Given the description of an element on the screen output the (x, y) to click on. 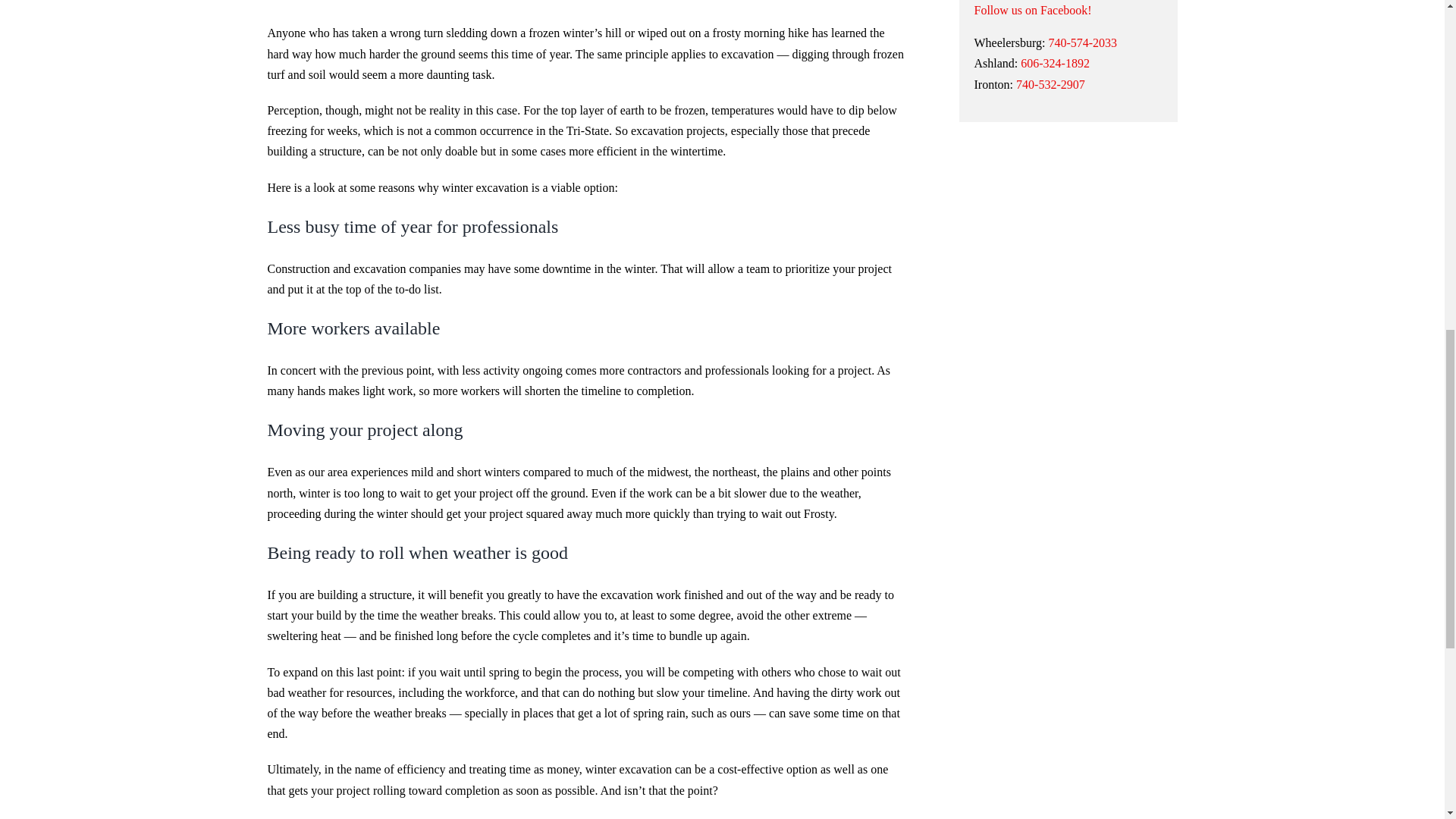
Follow us on Facebook! (1032, 10)
606-324-1892 (1054, 62)
740-532-2907 (1050, 83)
740-574-2033 (1083, 42)
